Given the description of an element on the screen output the (x, y) to click on. 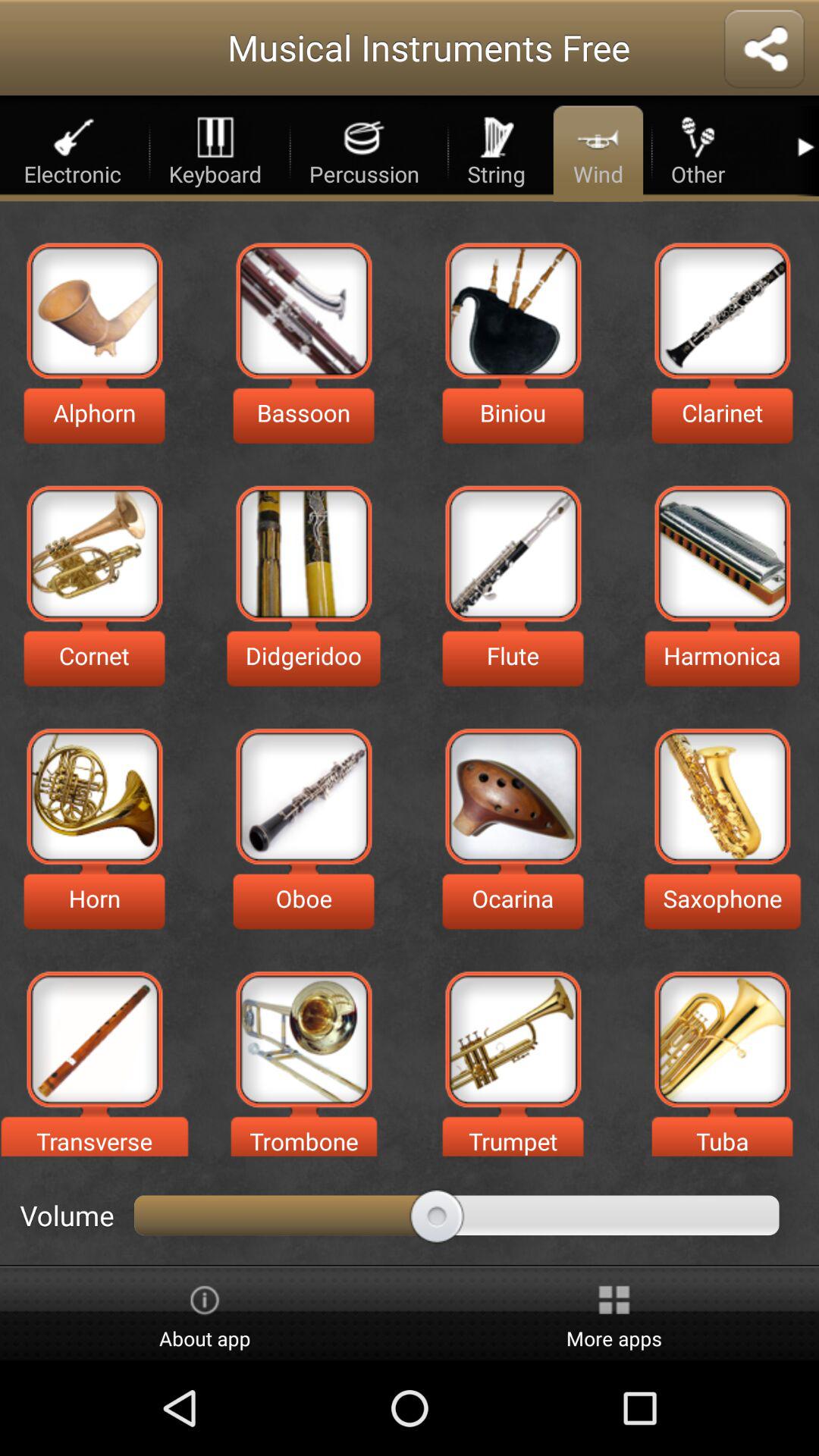
select option (94, 1039)
